Given the description of an element on the screen output the (x, y) to click on. 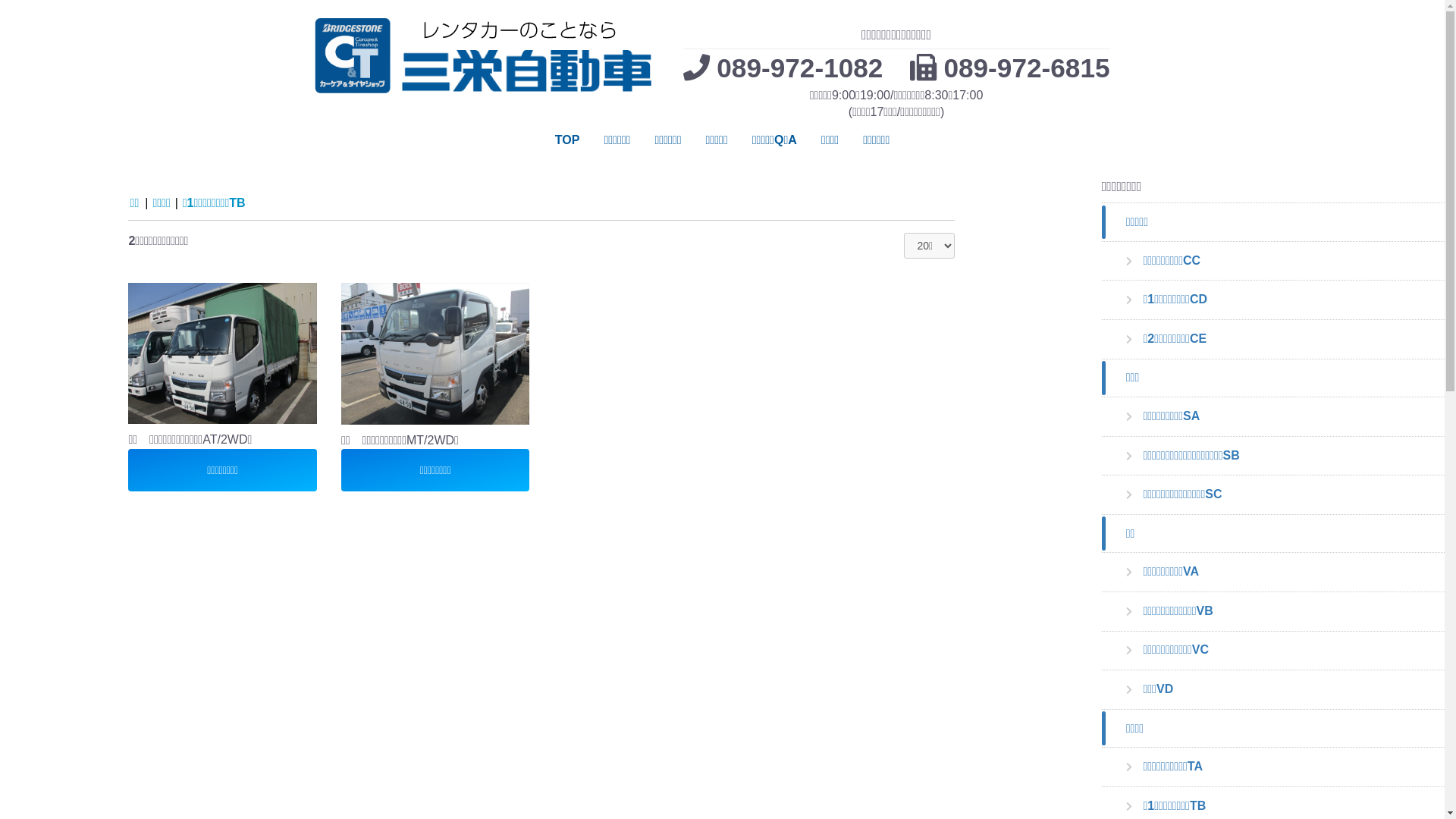
TOP Element type: text (567, 140)
089-972-1082 Element type: text (799, 67)
